Given the description of an element on the screen output the (x, y) to click on. 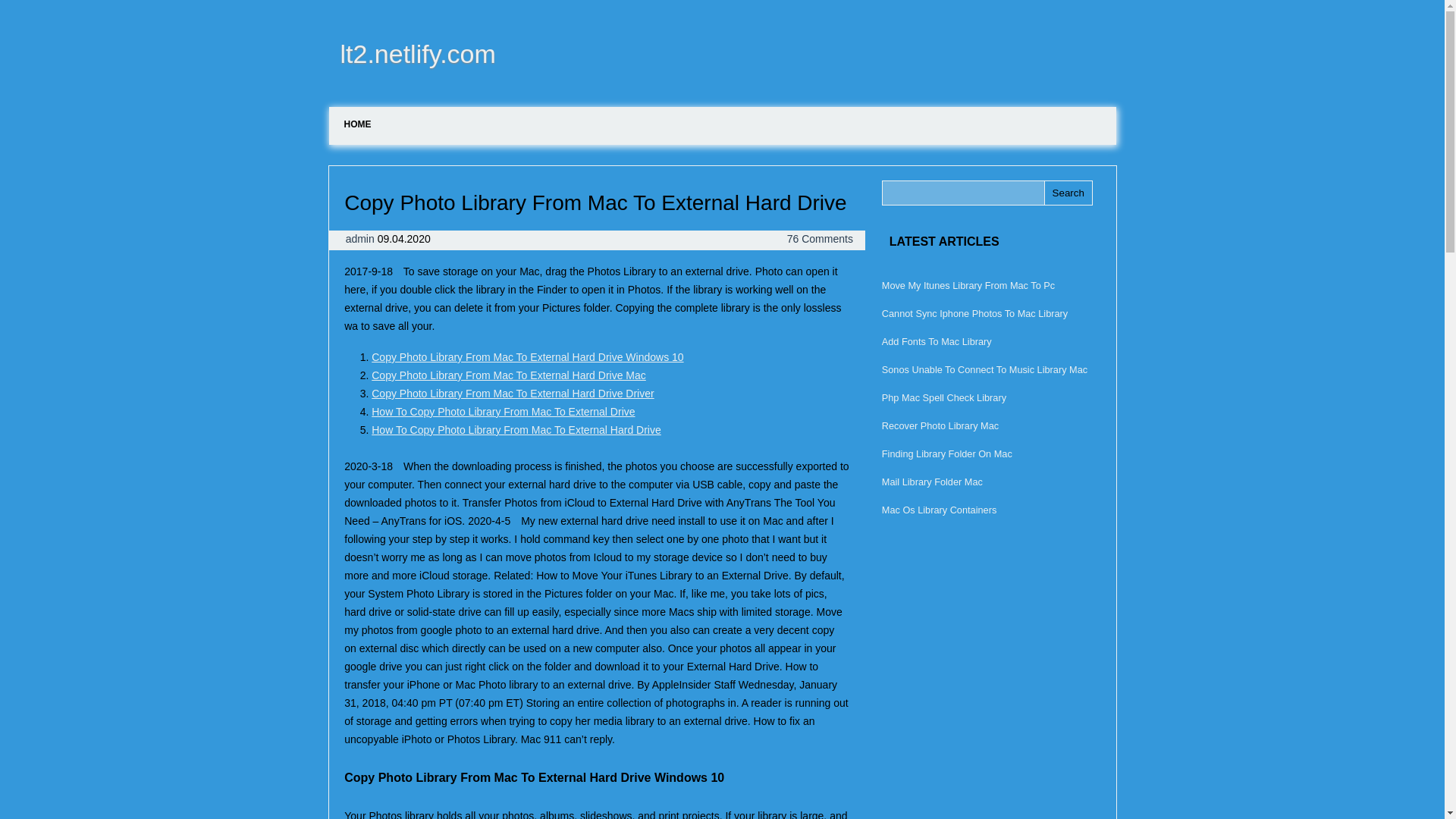
Mac Os Library Containers (938, 509)
Sonos Unable To Connect To Music Library Mac (984, 369)
Move My Itunes Library From Mac To Pc (968, 285)
Search (1068, 192)
How To Copy Photo Library From Mac To External Hard Drive (516, 429)
lt2.netlify.com (412, 53)
Cannot Sync Iphone Photos To Mac Library (974, 313)
Copy Photo Library From Mac To External Hard Drive Driver (512, 393)
Recover Photo Library Mac (940, 425)
Search (1068, 192)
